Given the description of an element on the screen output the (x, y) to click on. 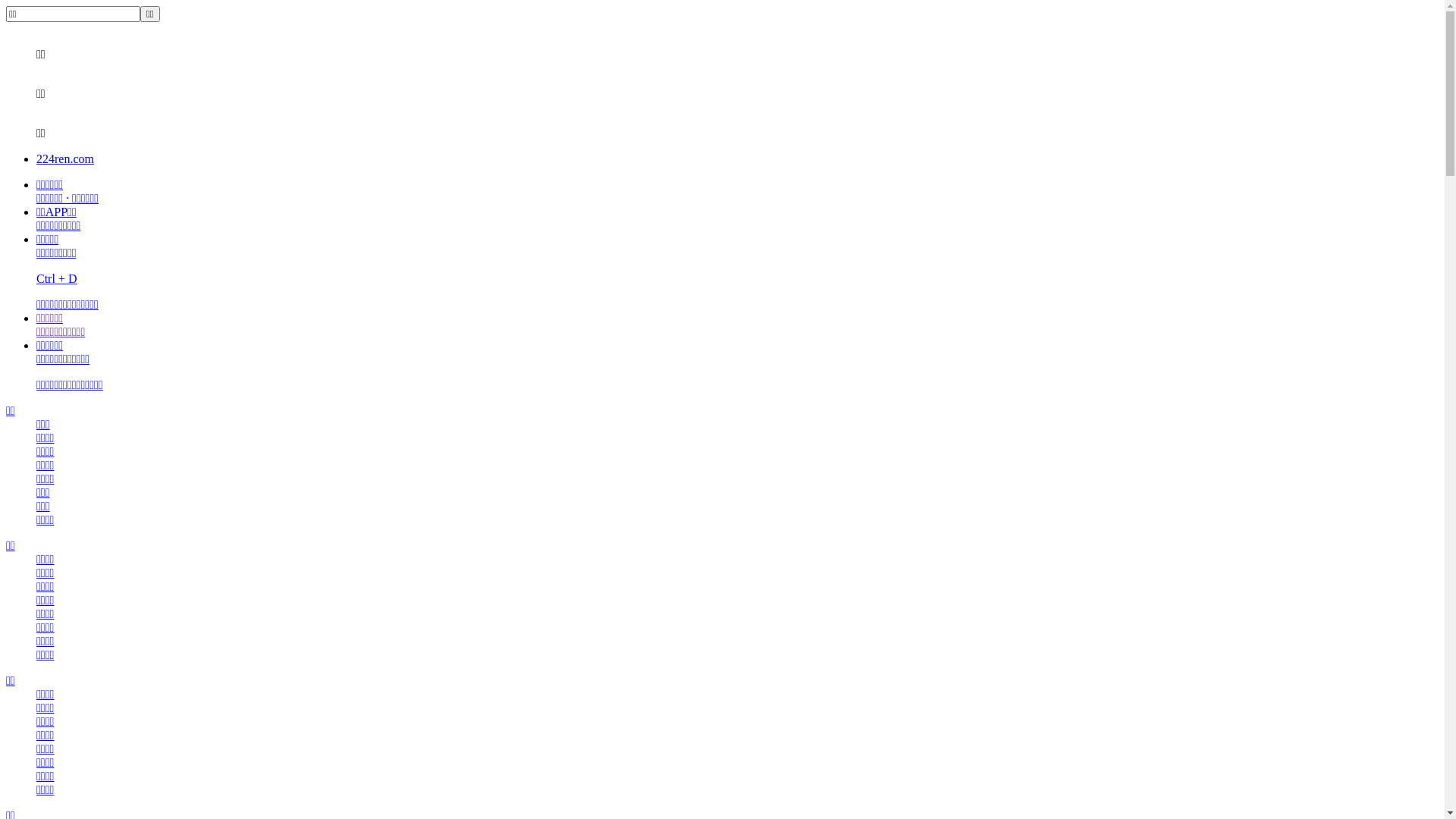
224ren.com Element type: text (65, 158)
